Given the description of an element on the screen output the (x, y) to click on. 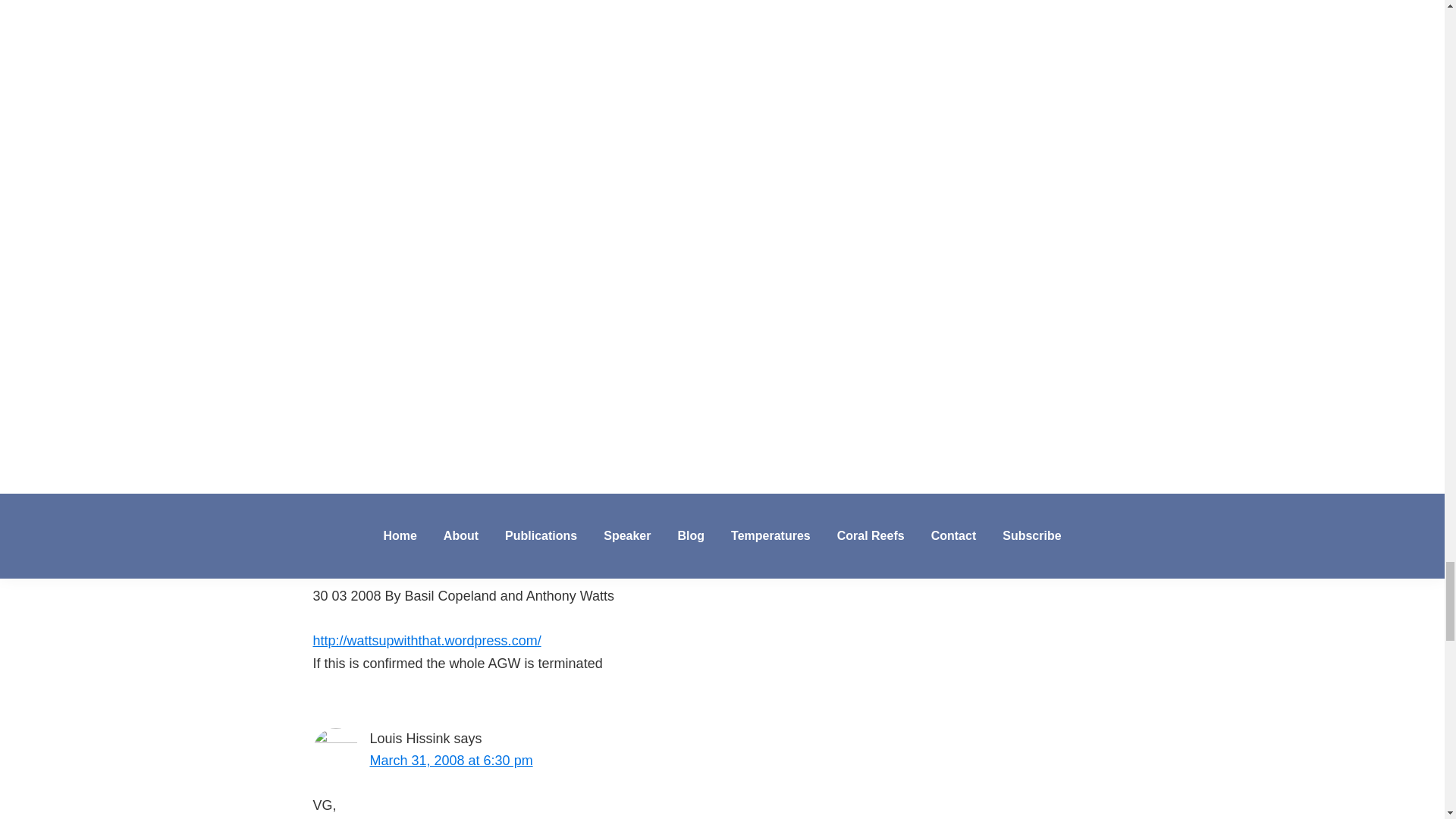
March 31, 2008 at 4:17 pm (450, 462)
March 31, 2008 at 6:30 pm (450, 760)
March 31, 2008 at 8:10 am (450, 186)
